Given the description of an element on the screen output the (x, y) to click on. 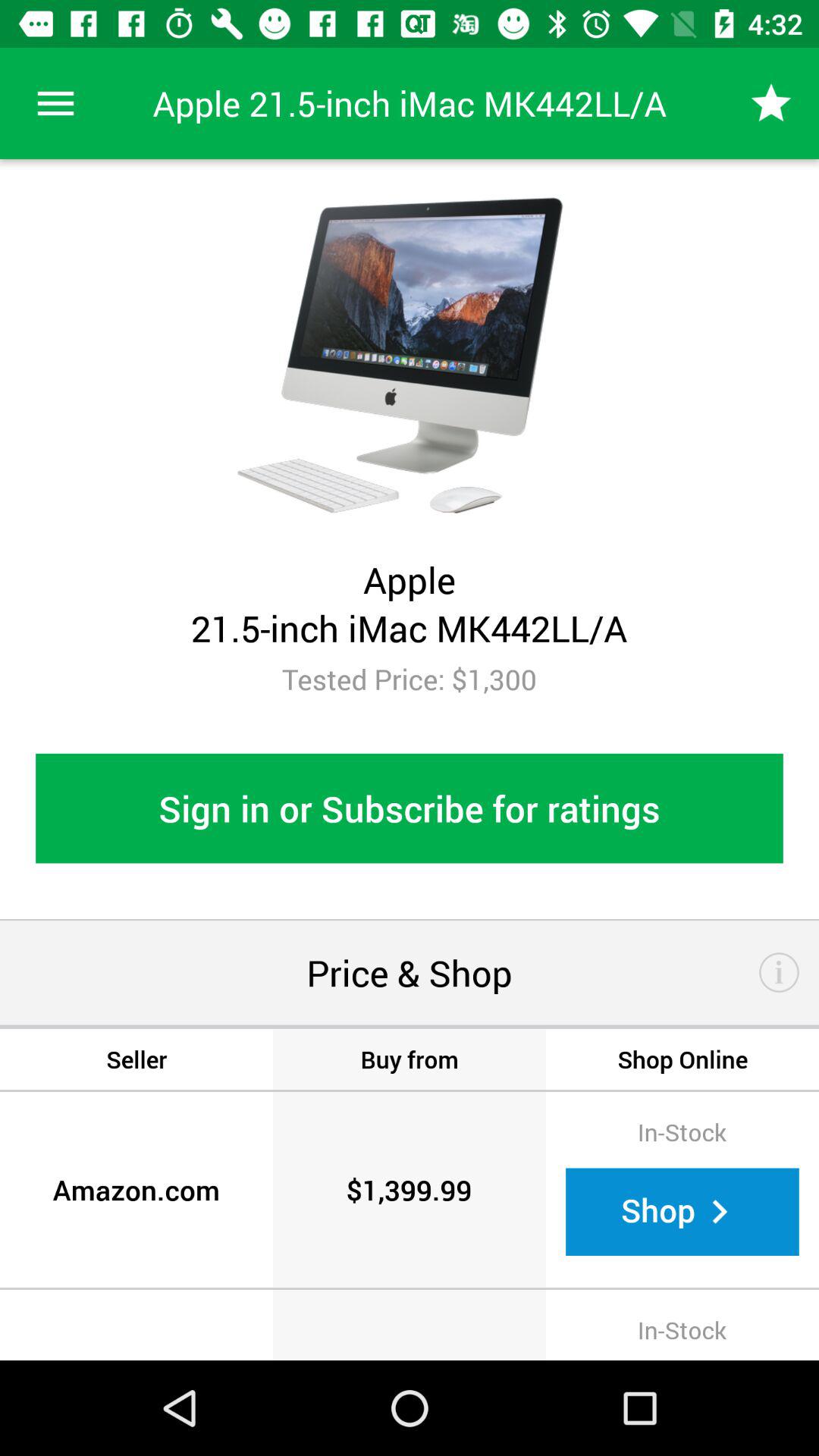
tap the sign in or item (409, 808)
